Given the description of an element on the screen output the (x, y) to click on. 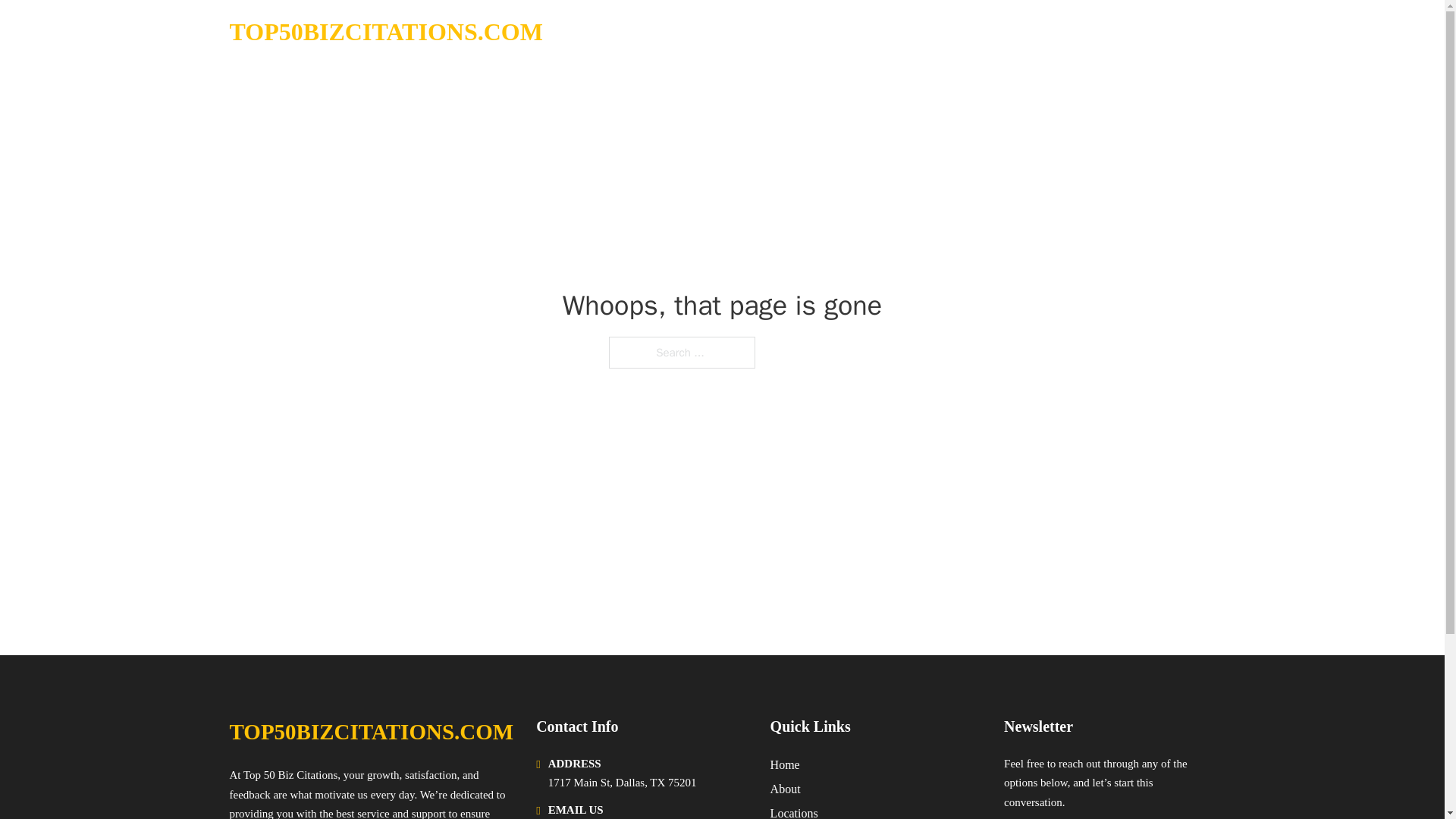
HOME (1025, 31)
Home (784, 764)
Locations (794, 811)
TOP50BIZCITATIONS.COM (370, 732)
About (785, 788)
LOCATIONS (1098, 31)
TOP50BIZCITATIONS.COM (384, 31)
